Given the description of an element on the screen output the (x, y) to click on. 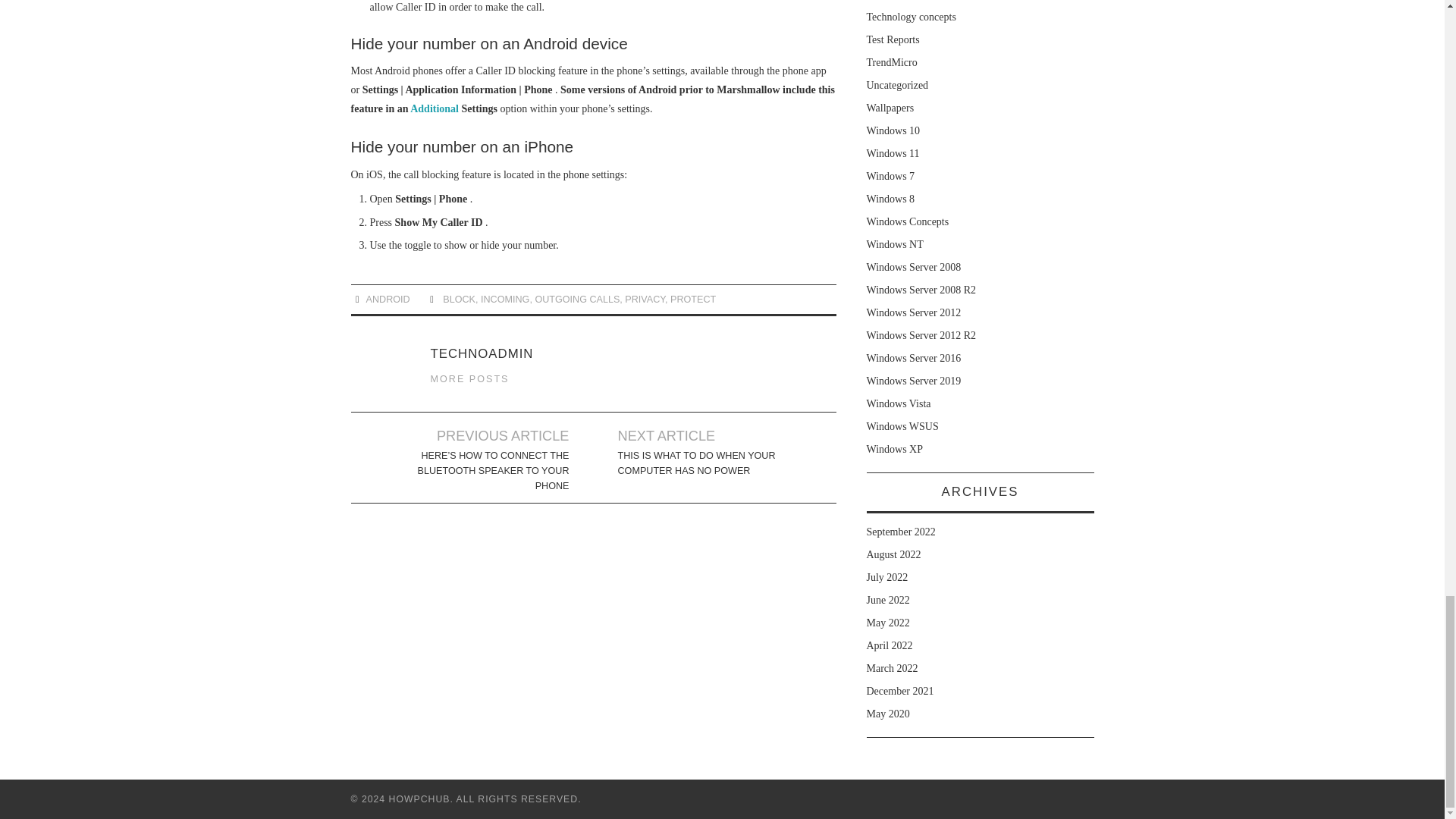
INCOMING (504, 299)
OUTGOING CALLS (577, 299)
MORE POSTS (469, 378)
THIS IS WHAT TO DO WHEN YOUR COMPUTER HAS NO POWER (702, 462)
BLOCK (459, 299)
ANDROID (388, 299)
Additional (434, 108)
PROTECT (692, 299)
PRIVACY (644, 299)
